Given the description of an element on the screen output the (x, y) to click on. 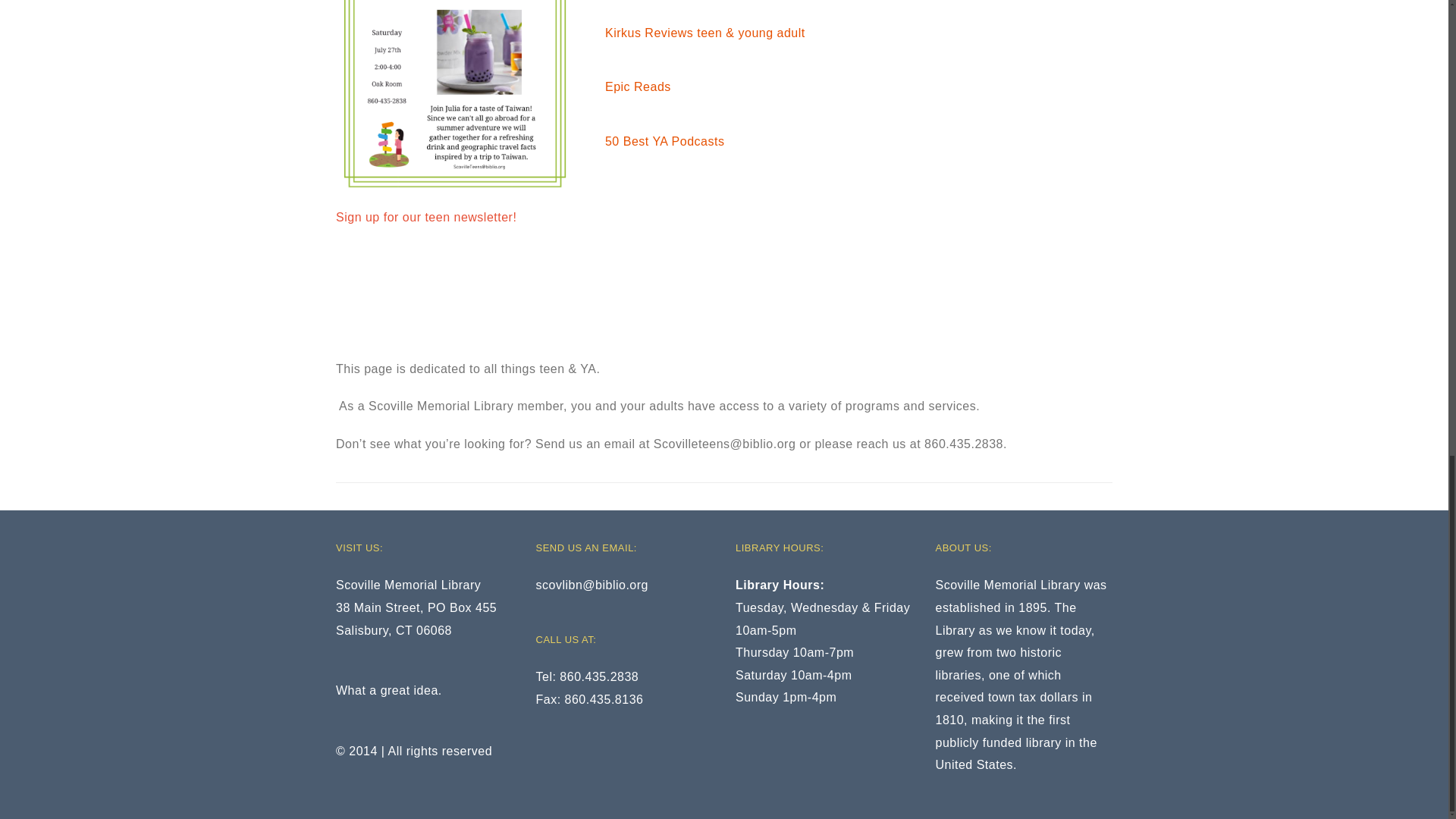
Sign up for our teen newsletter! (426, 216)
Epic Reads (638, 86)
